Given the description of an element on the screen output the (x, y) to click on. 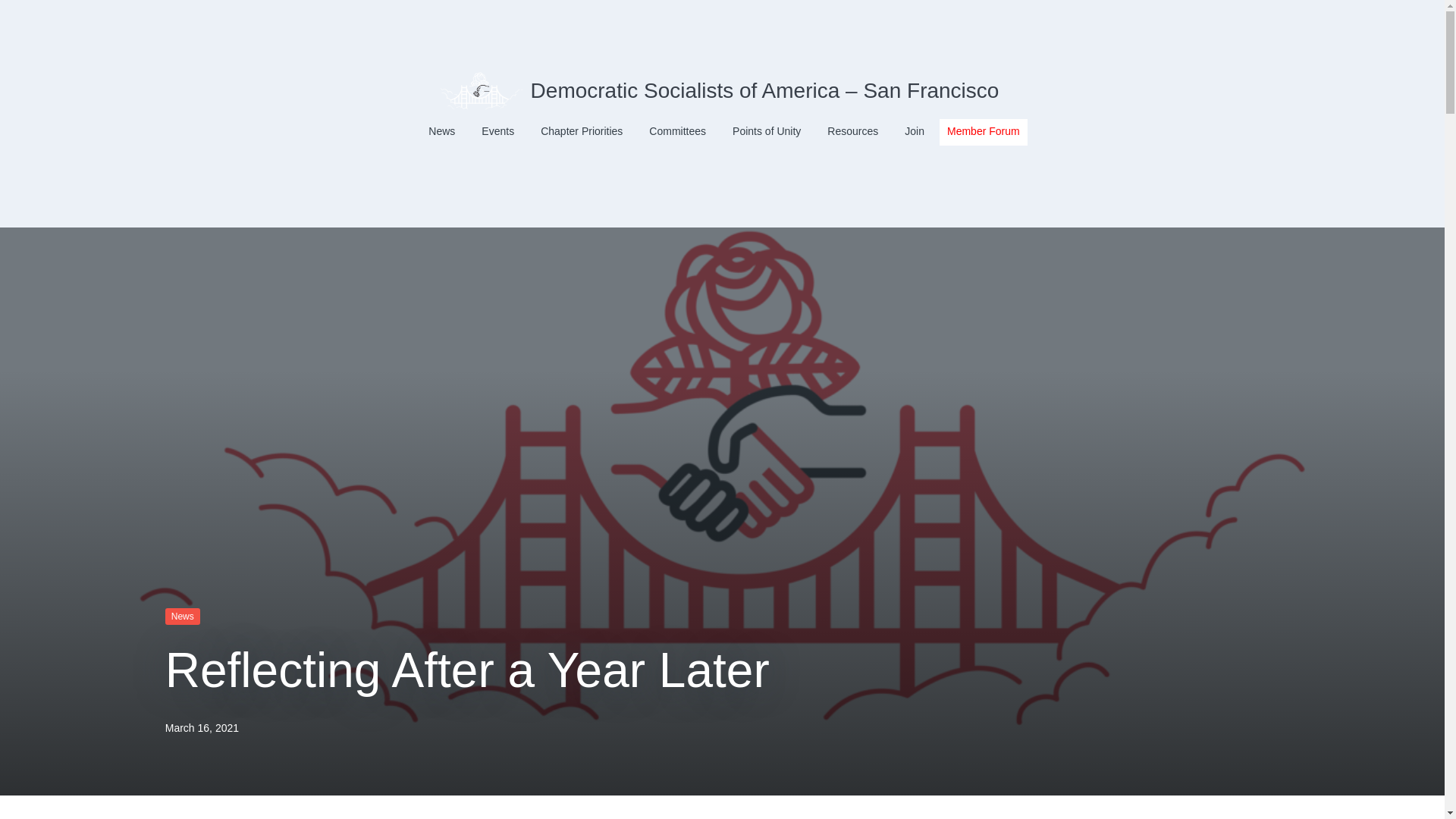
Events (497, 131)
Member Forum (983, 131)
Committees (677, 131)
News (182, 616)
Points of Unity (766, 131)
Chapter Priorities (581, 131)
Resources (852, 131)
News (441, 131)
